Given the description of an element on the screen output the (x, y) to click on. 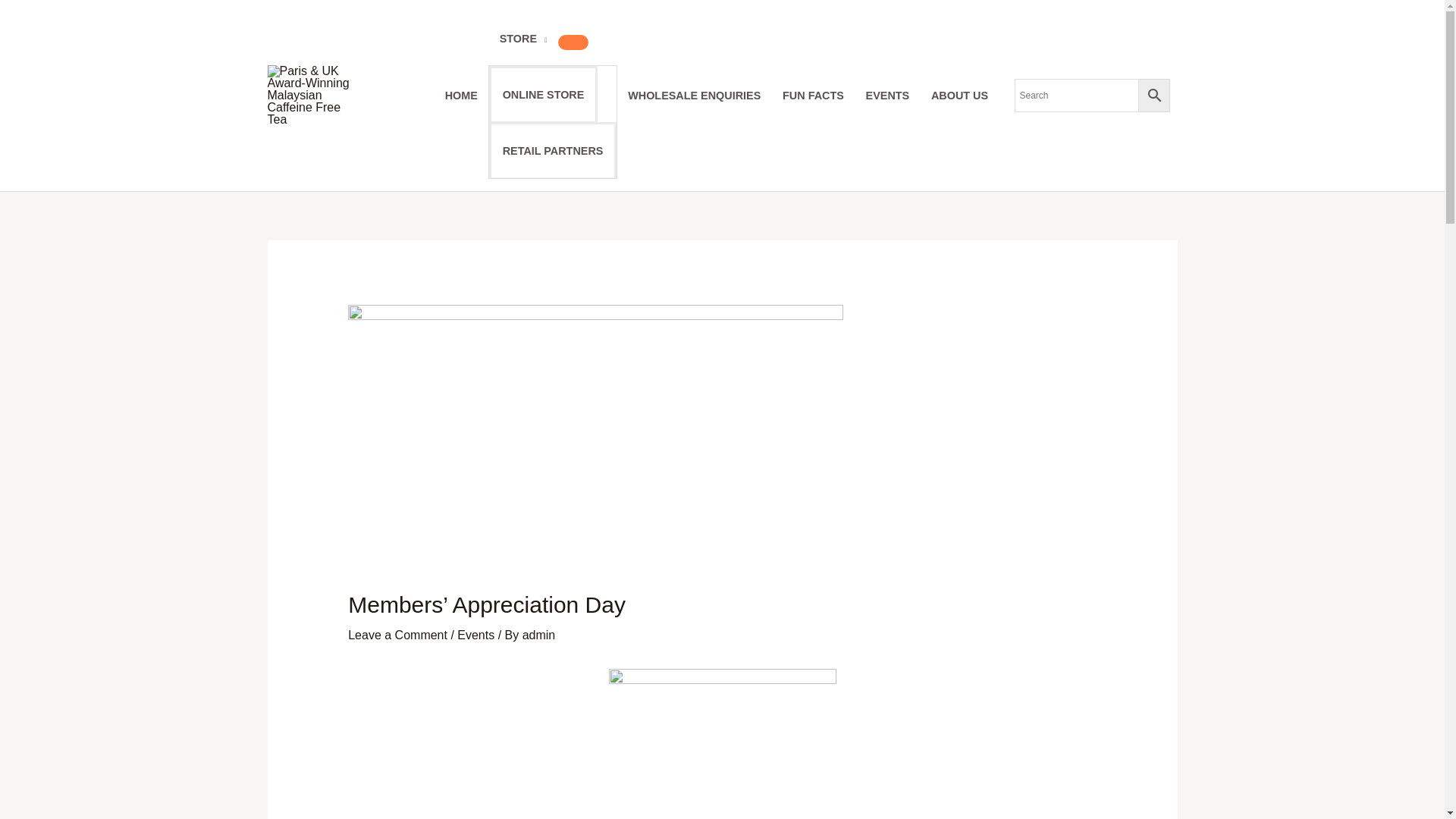
MENU TOGGLE (572, 42)
HOME (460, 95)
ONLINE STORE (542, 94)
View all posts by admin (539, 634)
STORE (522, 38)
Events (476, 634)
FUN FACTS (813, 95)
admin (539, 634)
RETAIL PARTNERS (552, 150)
ABOUT US (959, 95)
